Given the description of an element on the screen output the (x, y) to click on. 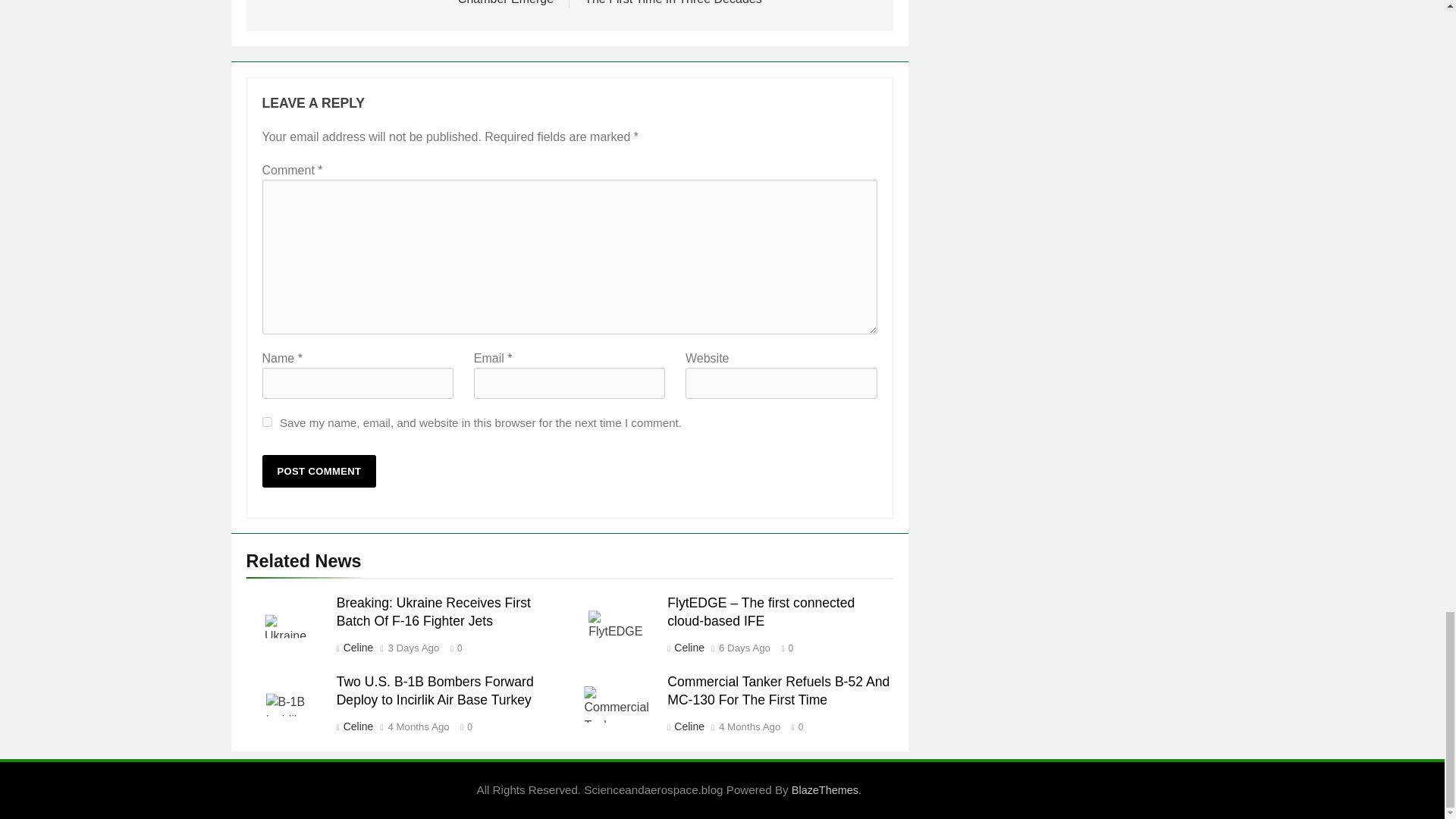
yes (267, 421)
Post Comment (319, 471)
